Given the description of an element on the screen output the (x, y) to click on. 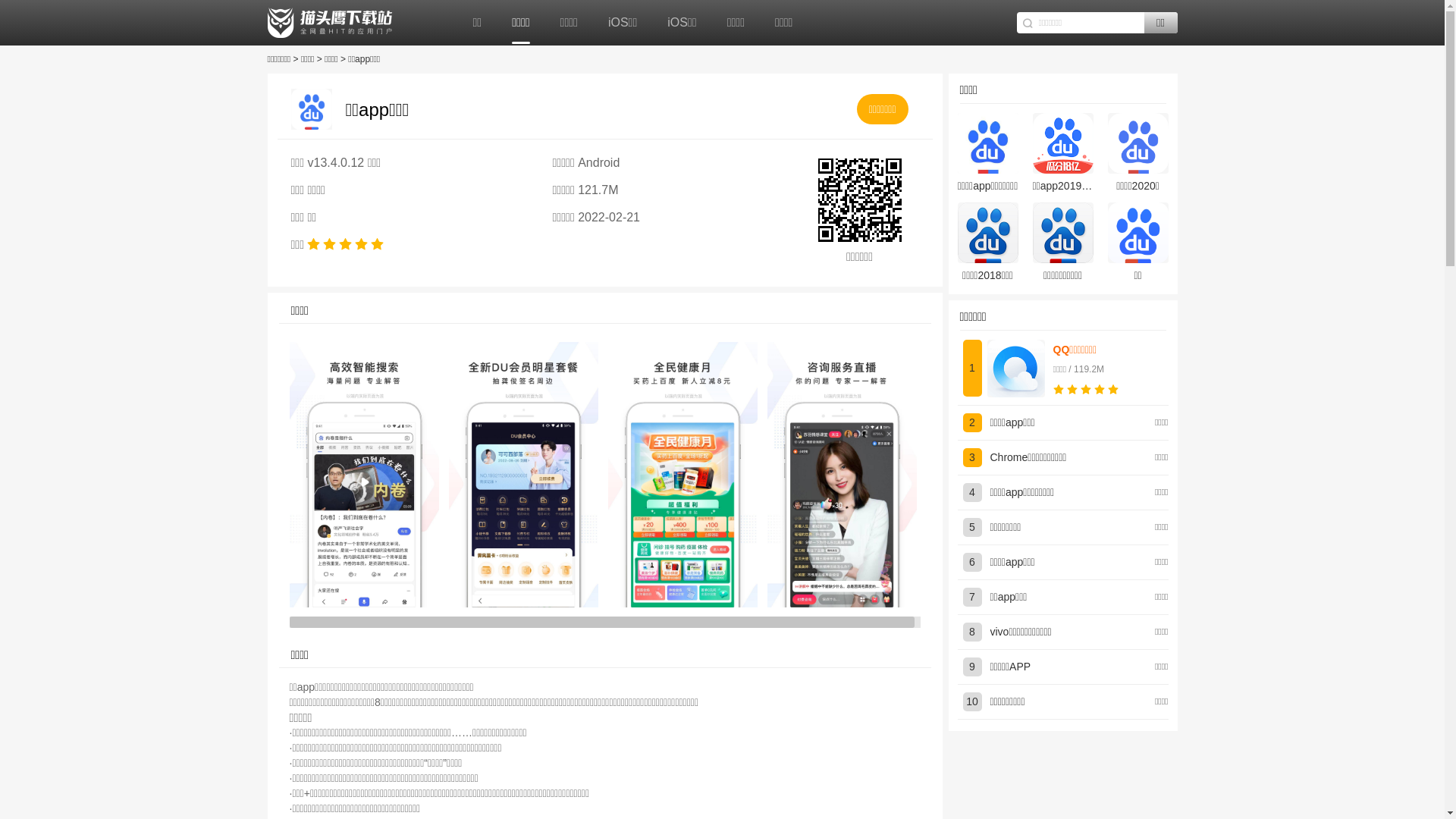
http://www.36xiu.com/azsoft/4747.html Element type: hover (858, 199)
